Given the description of an element on the screen output the (x, y) to click on. 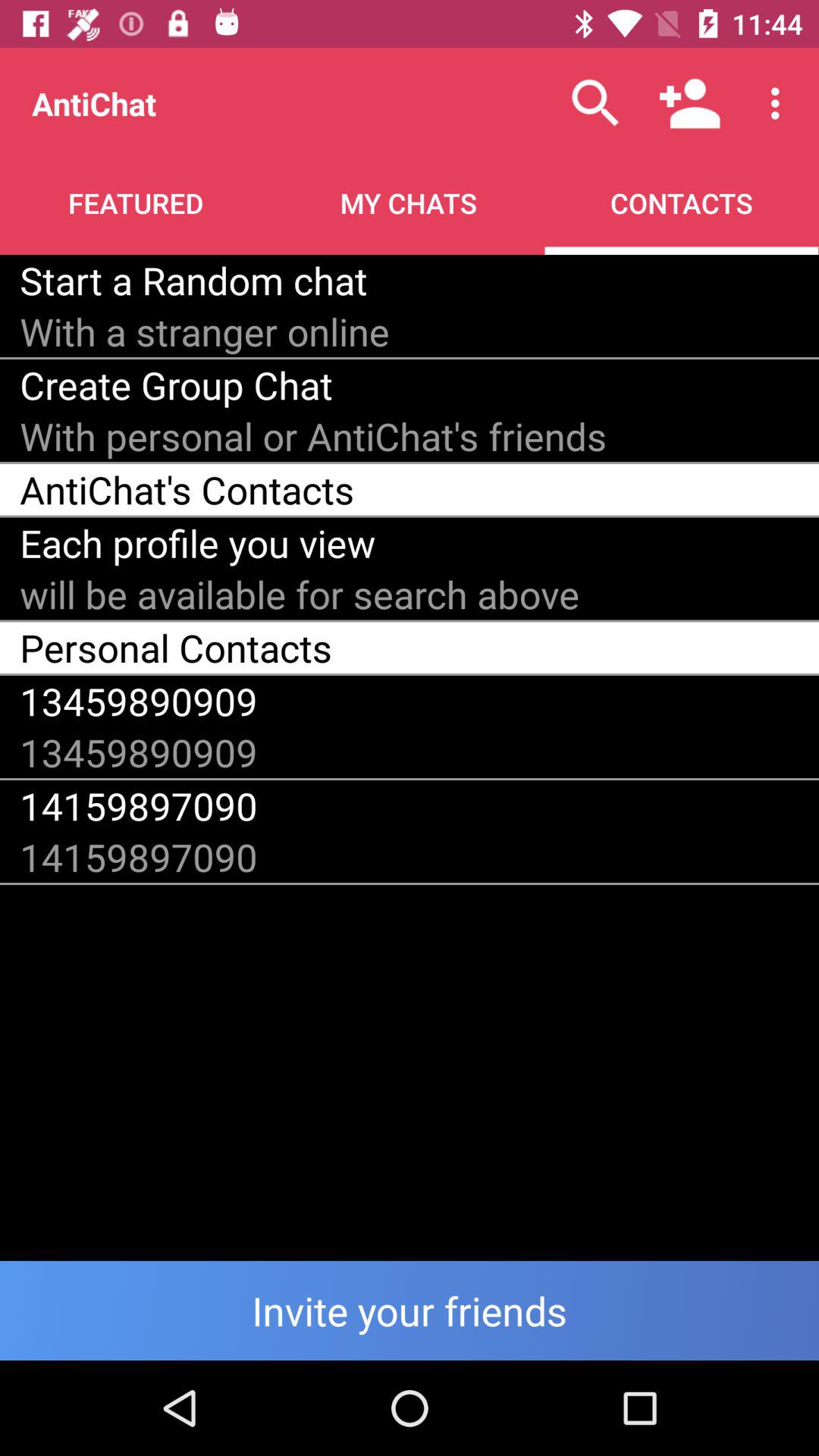
select item next to the contacts item (193, 279)
